Given the description of an element on the screen output the (x, y) to click on. 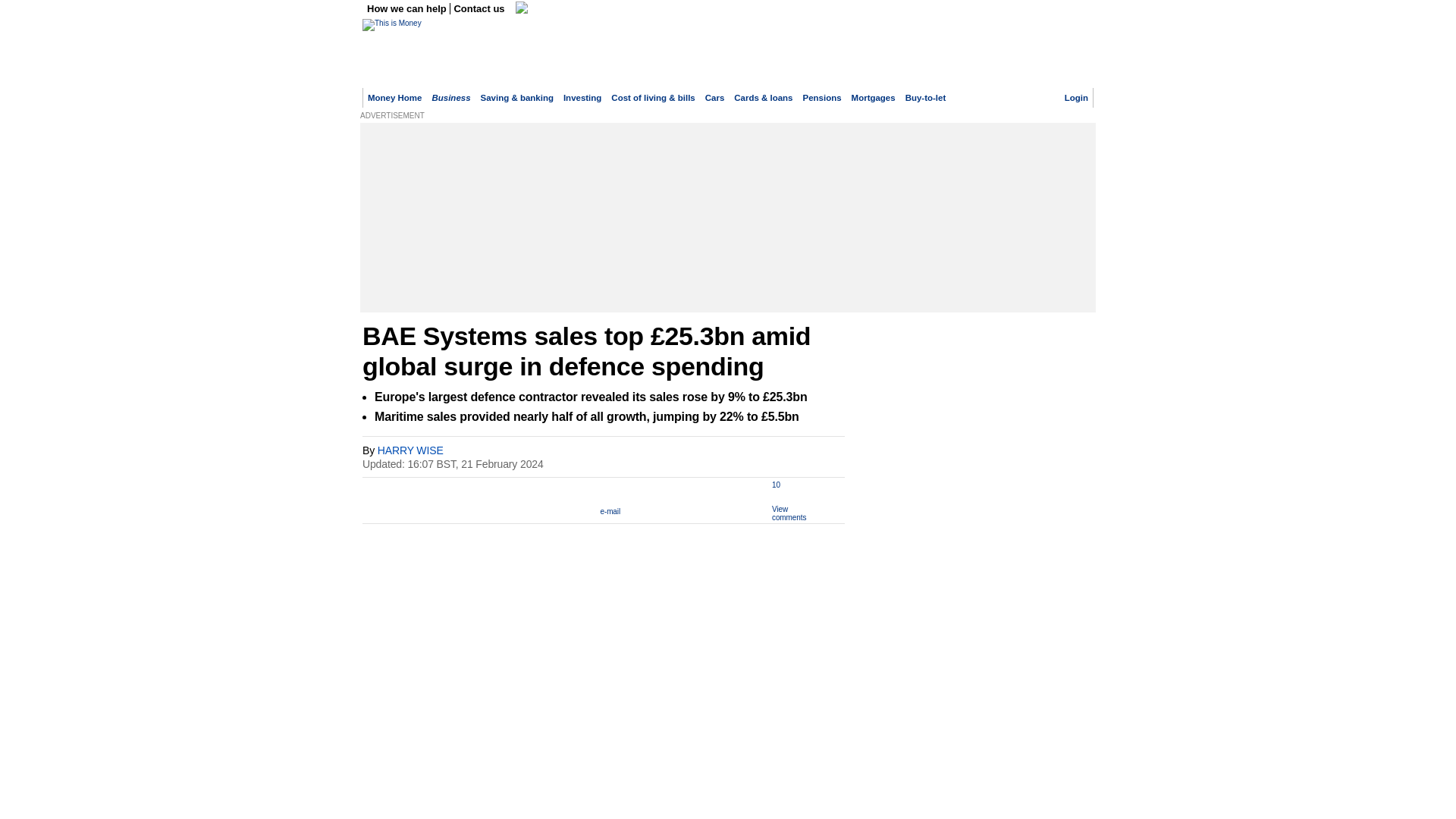
Pensions (822, 97)
Cars (714, 97)
Login (1075, 97)
Mortgages (873, 97)
Buy-to-let (925, 97)
Investing (582, 97)
How we can help (407, 8)
Money Home (395, 97)
Contact us (479, 8)
Business (450, 97)
